Given the description of an element on the screen output the (x, y) to click on. 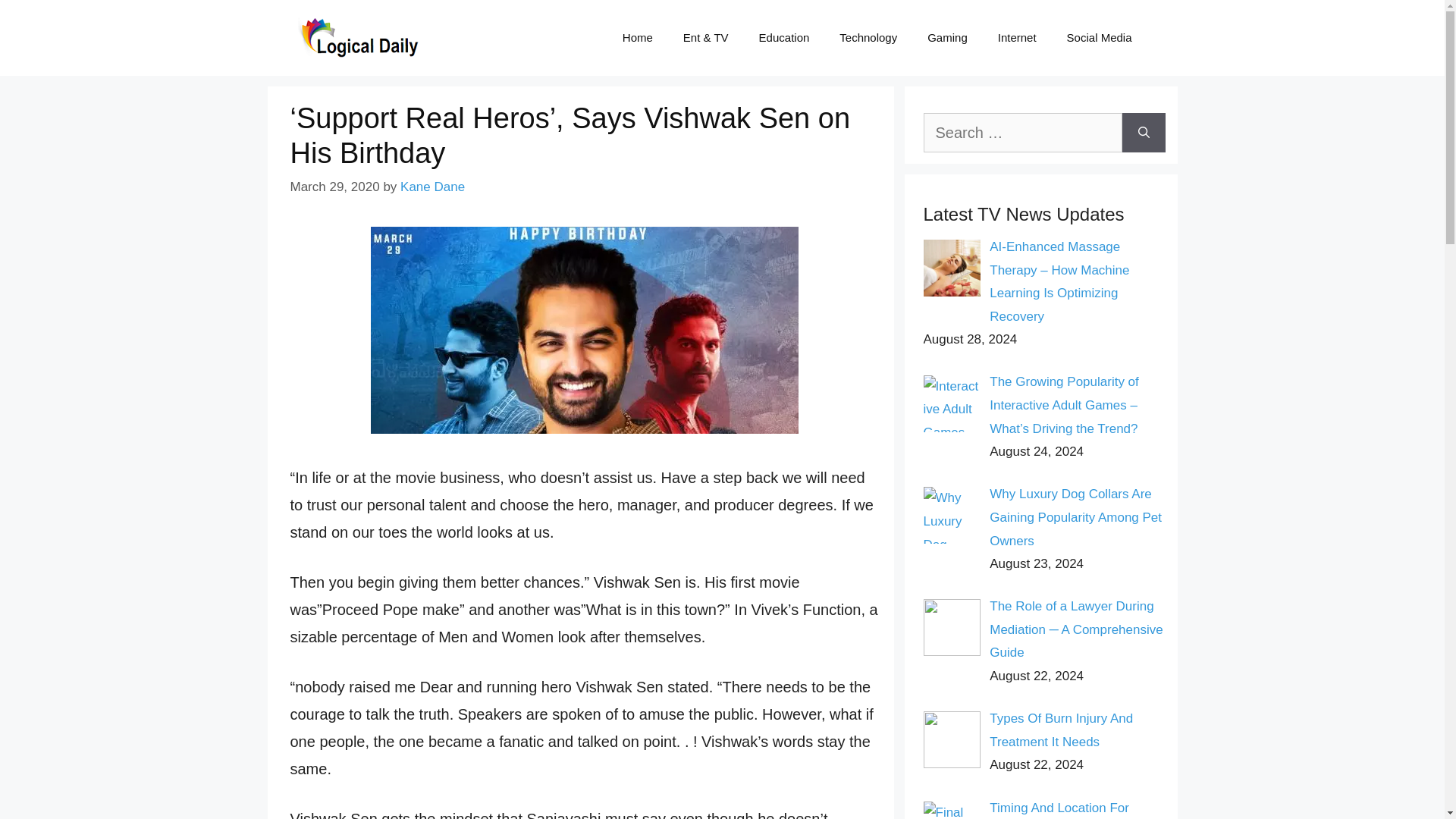
Education (784, 37)
View all posts by Kane Dane (432, 186)
Timing And Location For Payment Of Final Wages In California (1068, 809)
Types Of Burn Injury And Treatment It Needs (1061, 730)
Social Media (1099, 37)
Technology (868, 37)
Search for: (1022, 132)
Internet (1016, 37)
Home (637, 37)
